Given the description of an element on the screen output the (x, y) to click on. 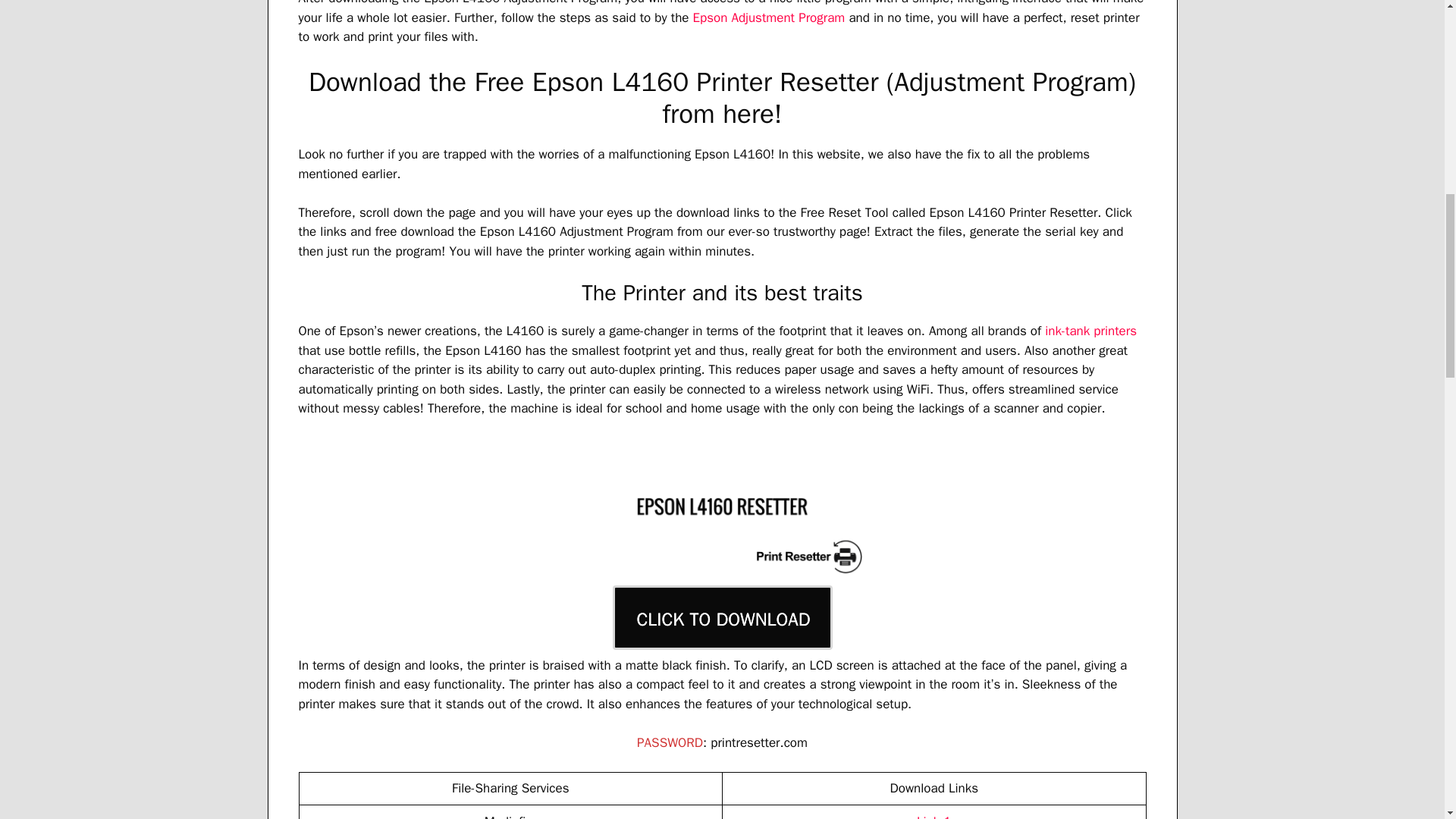
Epson Adjustment Program (769, 17)
ink-tank printers (1091, 330)
CLICK TO DOWNLOAD (722, 617)
Link 1 (934, 816)
